Given the description of an element on the screen output the (x, y) to click on. 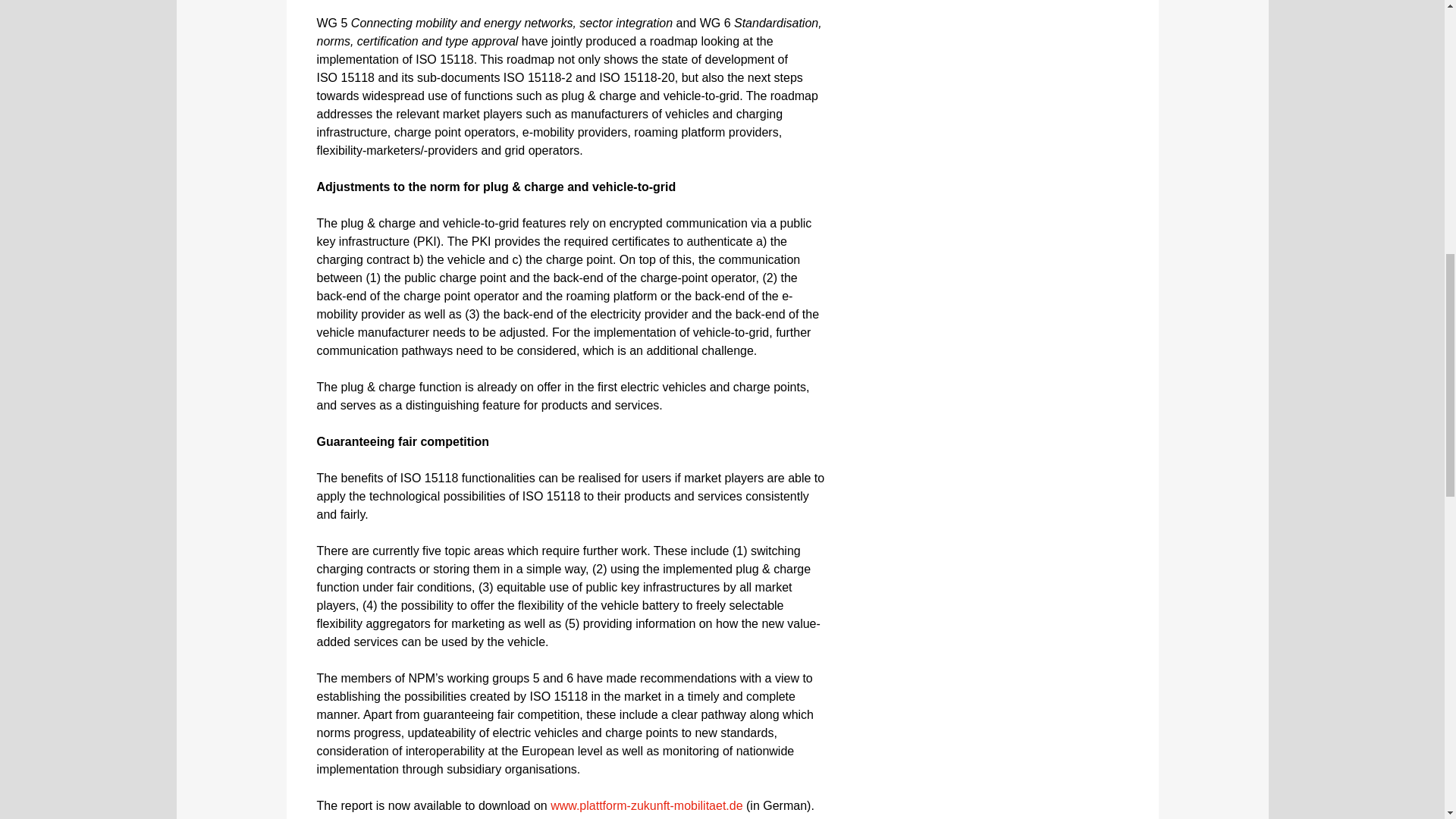
www.plattform-zukunft-mobilitaet.de (646, 805)
